Given the description of an element on the screen output the (x, y) to click on. 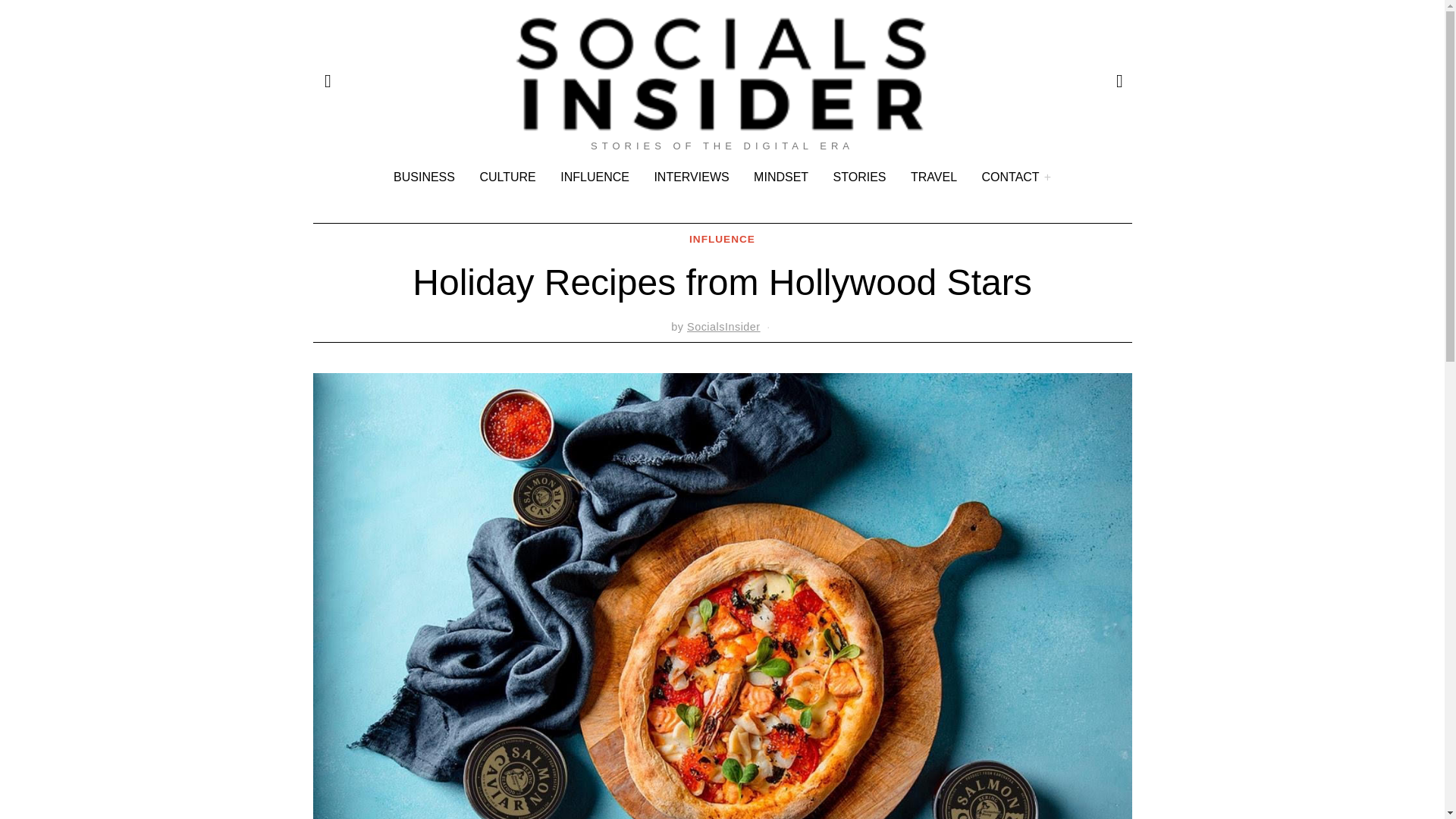
TRAVEL (933, 177)
MINDSET (780, 177)
STORIES (859, 177)
CONTACT (1016, 177)
INTERVIEWS (691, 177)
CULTURE (507, 177)
INFLUENCE (721, 239)
SocialsInsider (723, 326)
BUSINESS (423, 177)
INFLUENCE (595, 177)
